Given the description of an element on the screen output the (x, y) to click on. 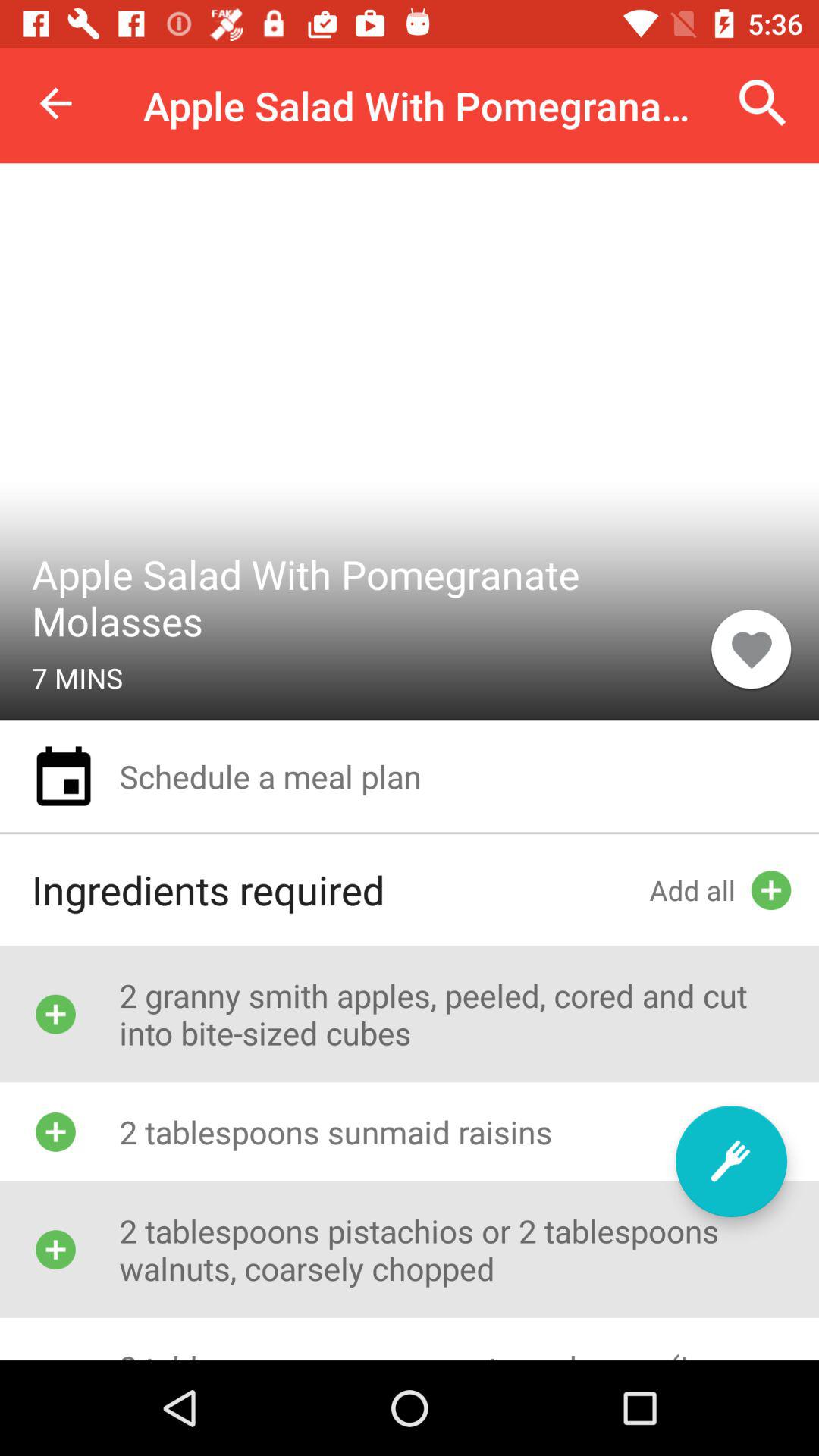
show cooking method (731, 1161)
